Given the description of an element on the screen output the (x, y) to click on. 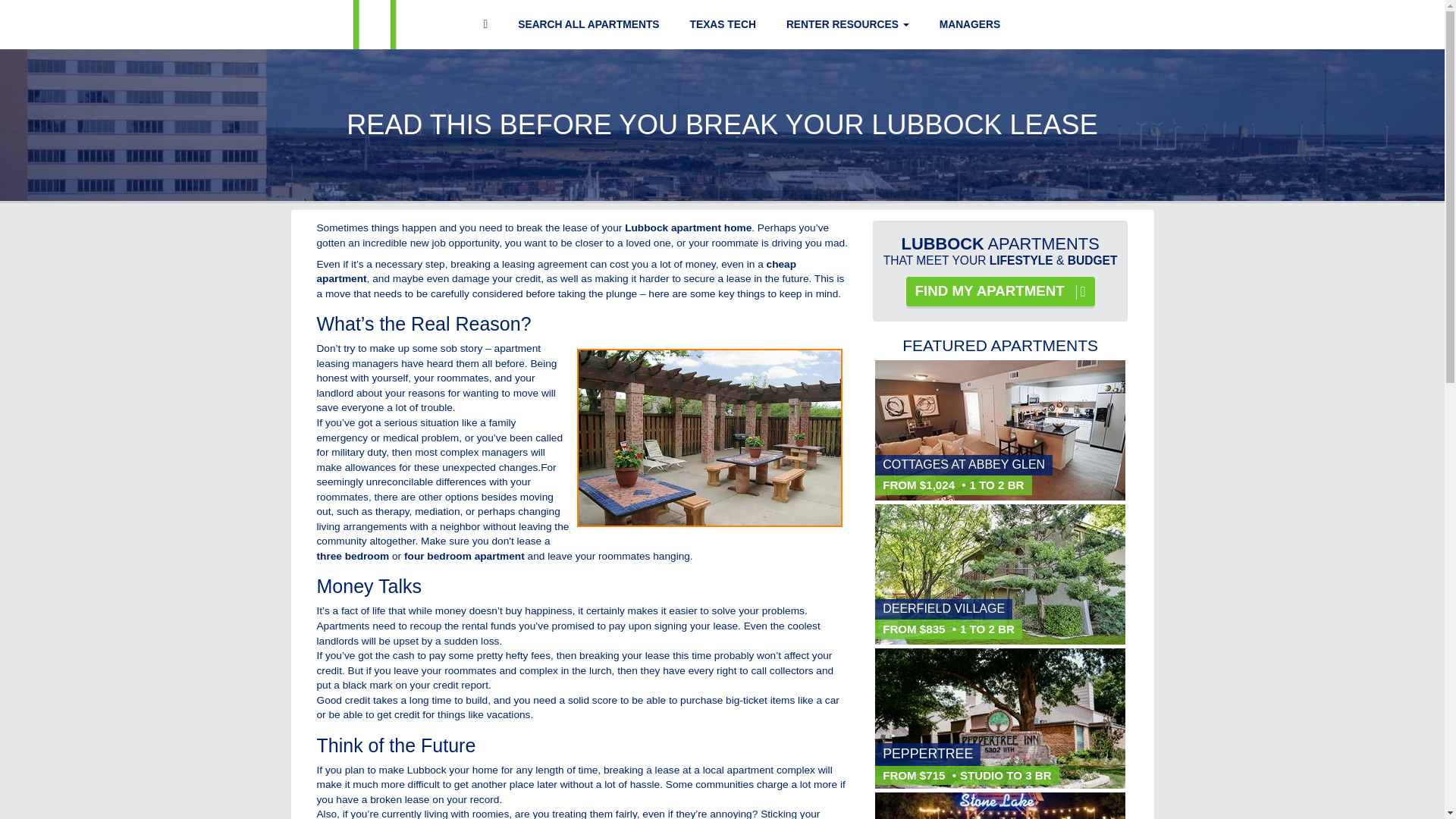
List of apartments in Lubbock (999, 291)
4 bedroom apartment in lubbock  (464, 555)
3 bedroom apartment in lubbock  (353, 555)
TEXAS TECH (722, 24)
Texas Tech (722, 24)
Renter Resources Menu Folder (847, 24)
MANAGERS (969, 24)
FIND MY APARTMENT (999, 291)
Advertise (969, 24)
Lubbock, TX Apartments (377, 24)
SEARCH ALL APARTMENTS (587, 24)
four bedroom apartment (464, 555)
lubbock apartments  (687, 227)
RENTER RESOURCES (847, 24)
cheap apartment (556, 271)
